Given the description of an element on the screen output the (x, y) to click on. 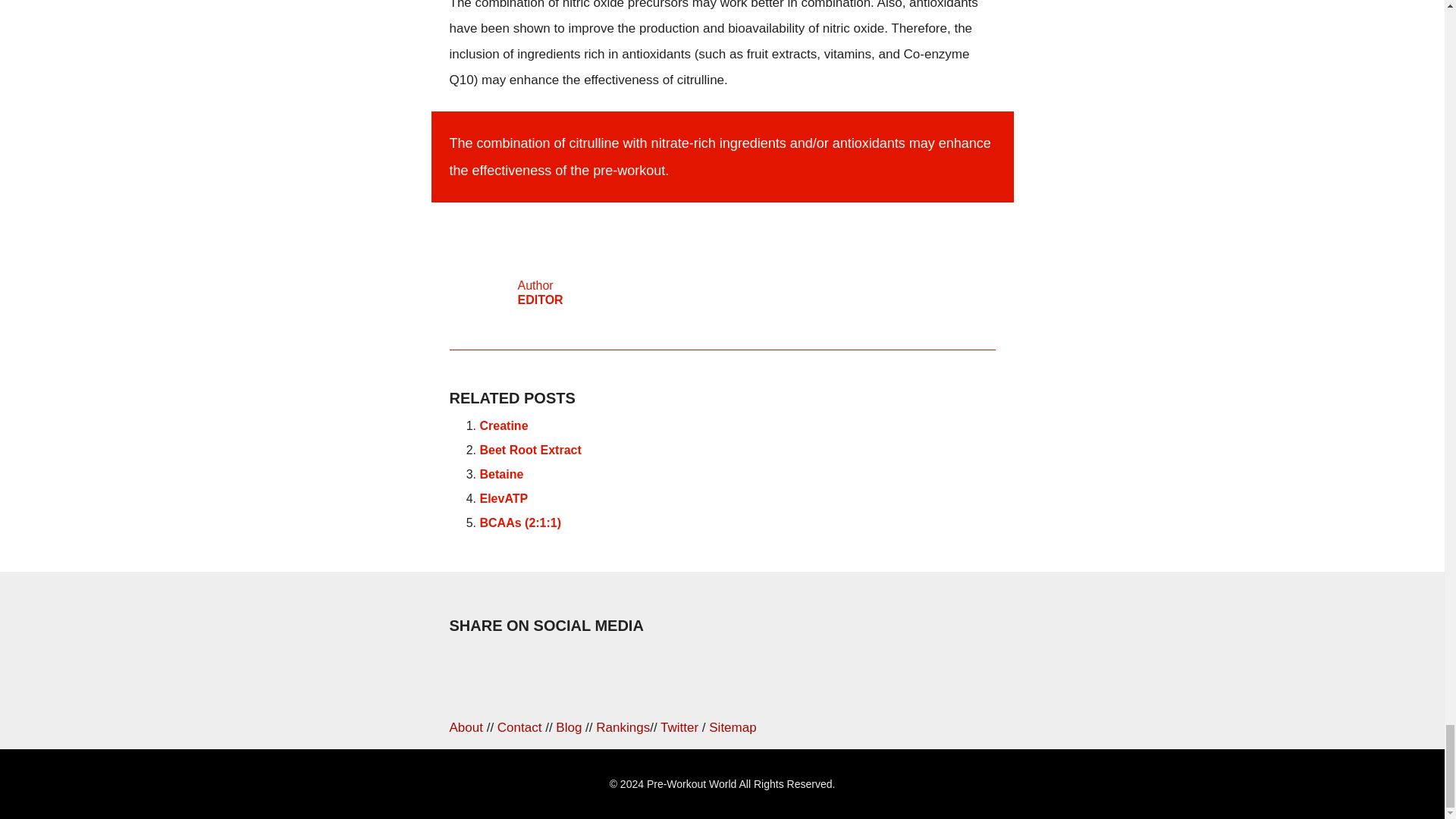
Betaine (500, 473)
Beet Root Extract (529, 449)
ElevATP (503, 498)
Beet Root Extract (529, 449)
Creatine (503, 425)
Betaine (721, 284)
Creatine (500, 473)
